Given the description of an element on the screen output the (x, y) to click on. 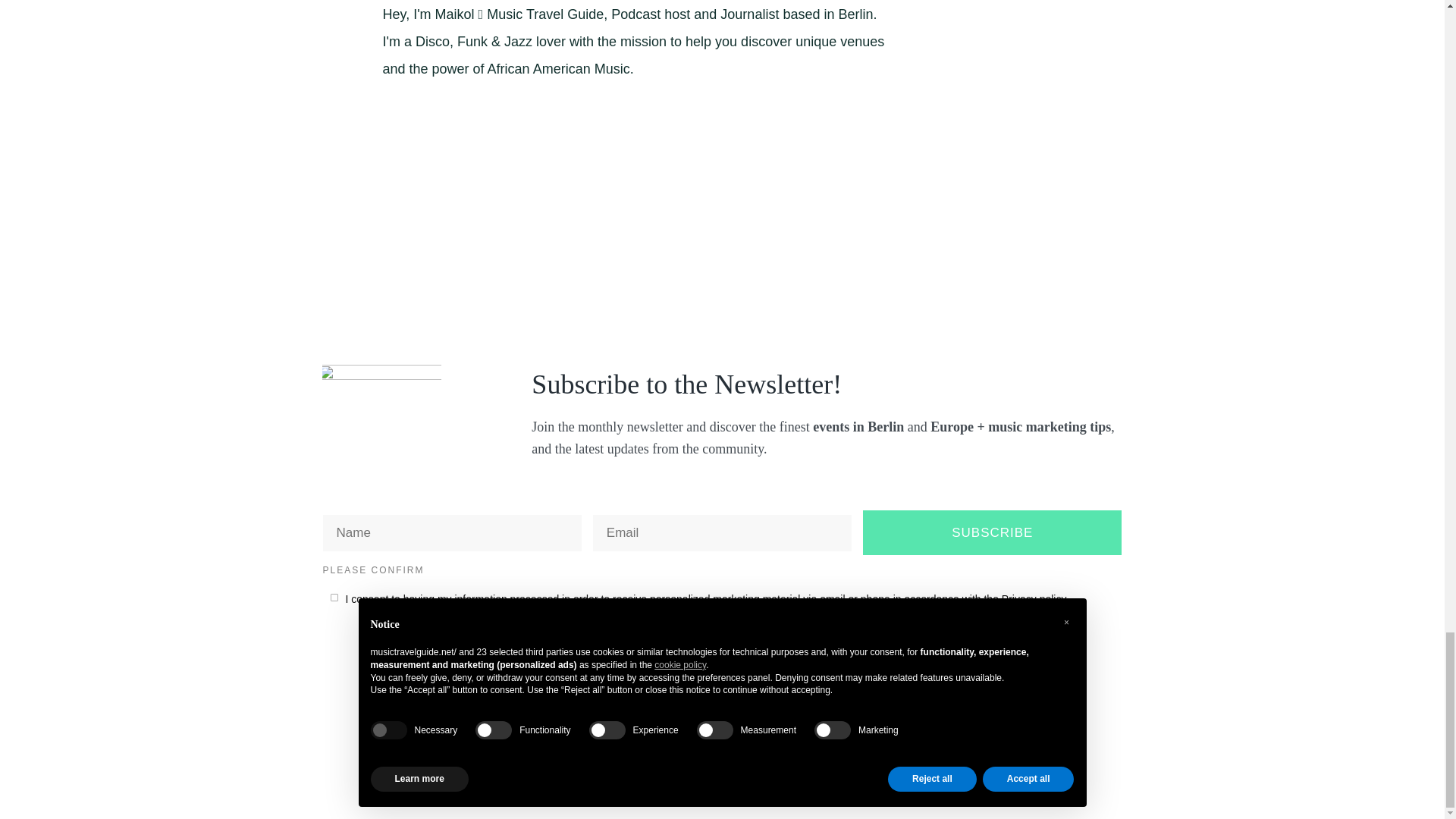
Impressum  (943, 779)
Music-Travel-Guide (383, 414)
SUBSCRIBE (992, 533)
Privacy Policy  (812, 779)
Cookie Policy  (881, 779)
